Given the description of an element on the screen output the (x, y) to click on. 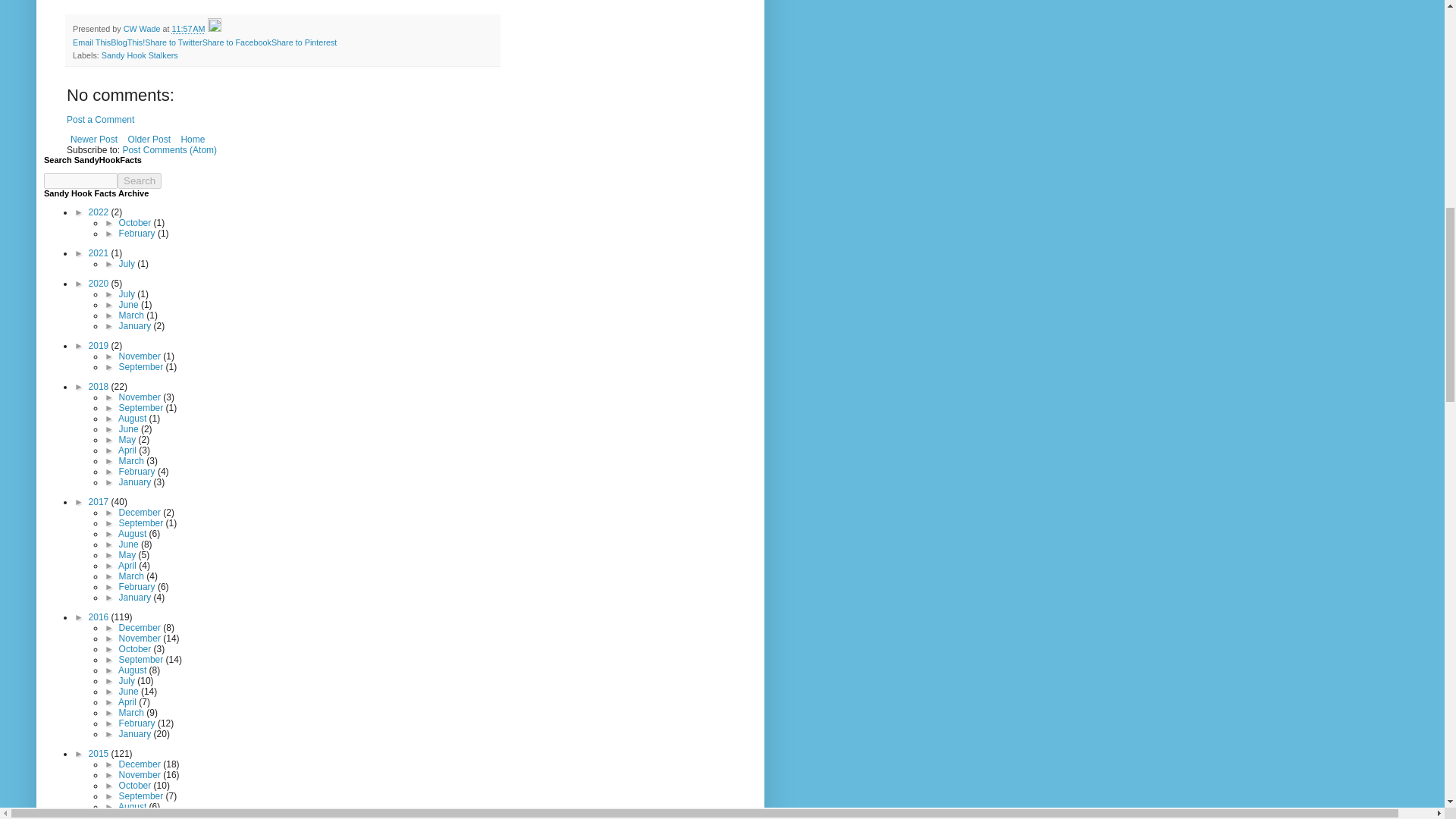
March (133, 315)
BlogThis! (127, 41)
Newer Post (93, 139)
2020 (100, 283)
Share to Facebook (236, 41)
Share to Pinterest (303, 41)
search (80, 180)
2021 (100, 253)
CW Wade (143, 28)
author profile (143, 28)
July (128, 263)
Edit Post (214, 28)
June (130, 304)
Newer Post (93, 139)
